Given the description of an element on the screen output the (x, y) to click on. 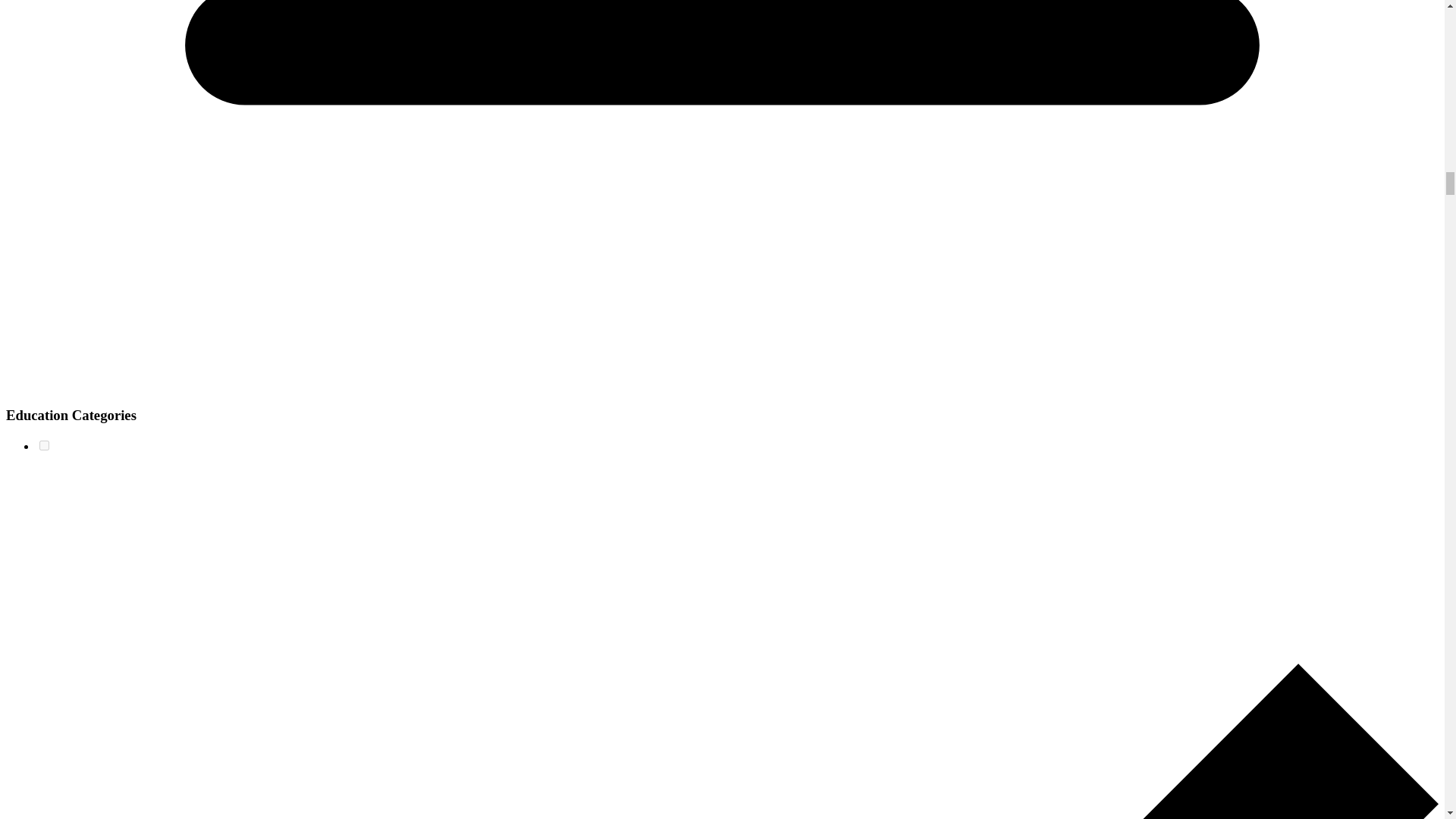
60 (44, 445)
